Given the description of an element on the screen output the (x, y) to click on. 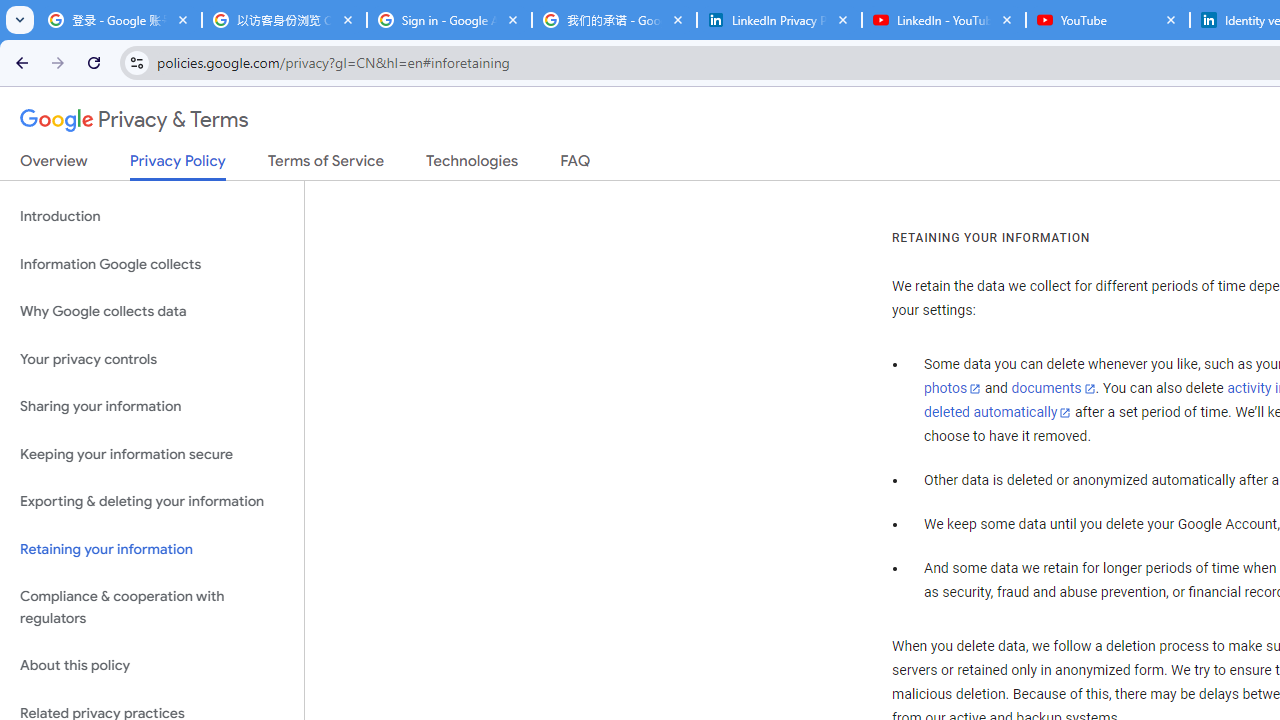
Sign in - Google Accounts (449, 20)
YouTube (1108, 20)
Sharing your information (152, 407)
Compliance & cooperation with regulators (152, 607)
LinkedIn - YouTube (943, 20)
Keeping your information secure (152, 453)
